Given the description of an element on the screen output the (x, y) to click on. 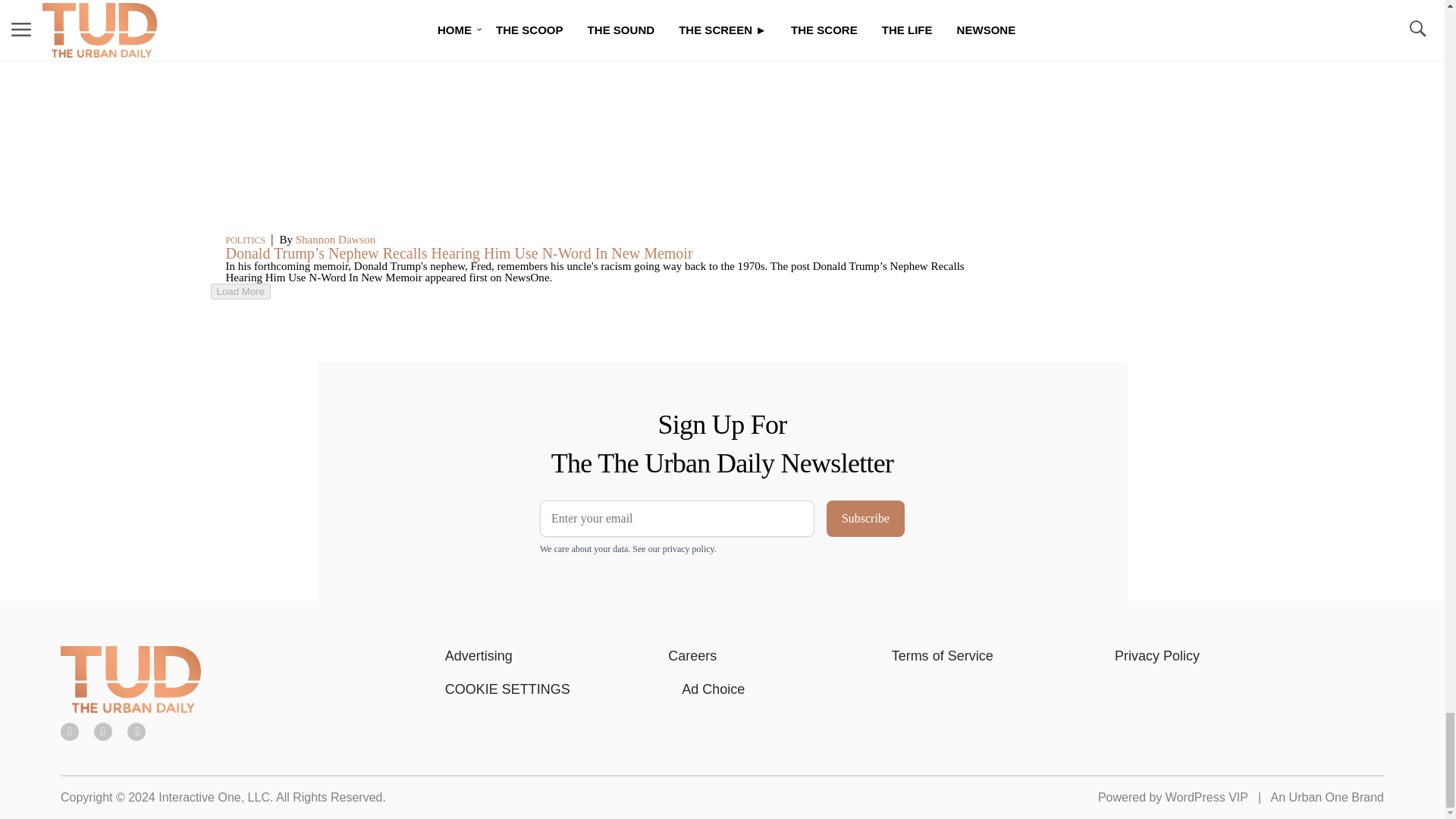
Load More (240, 291)
Load More (596, 291)
